Given the description of an element on the screen output the (x, y) to click on. 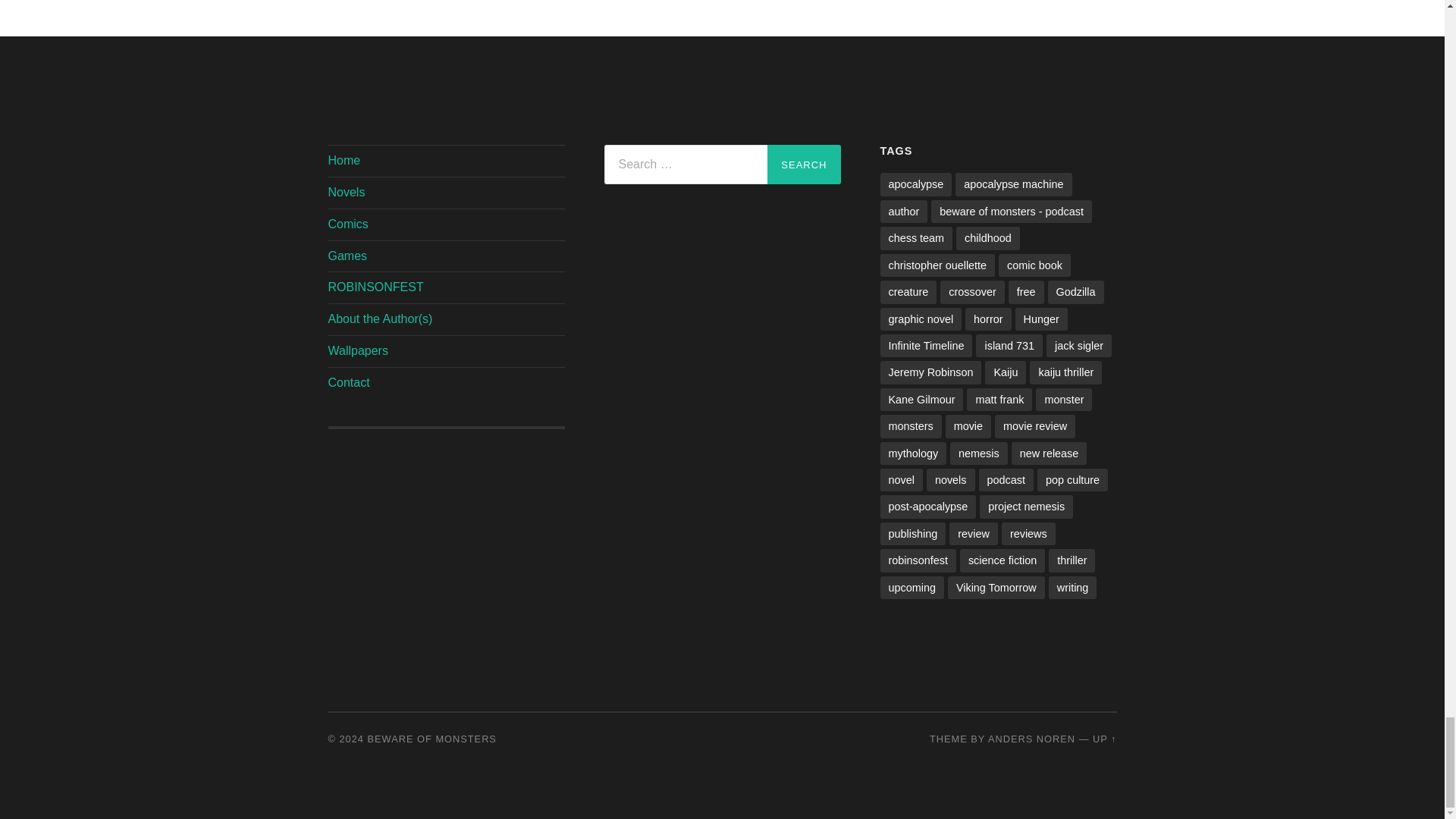
Search (803, 164)
To the top (1104, 738)
Search (803, 164)
